Given the description of an element on the screen output the (x, y) to click on. 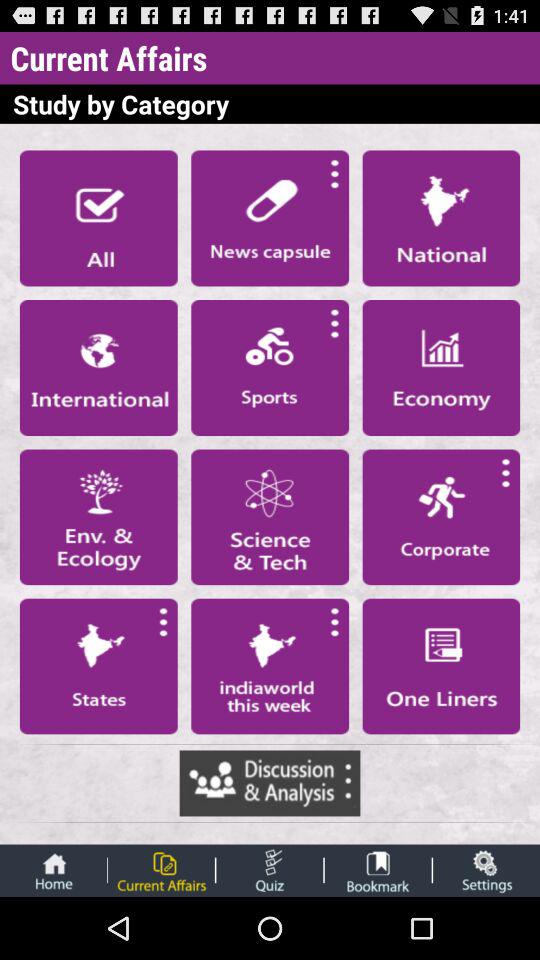
view all (98, 218)
